Given the description of an element on the screen output the (x, y) to click on. 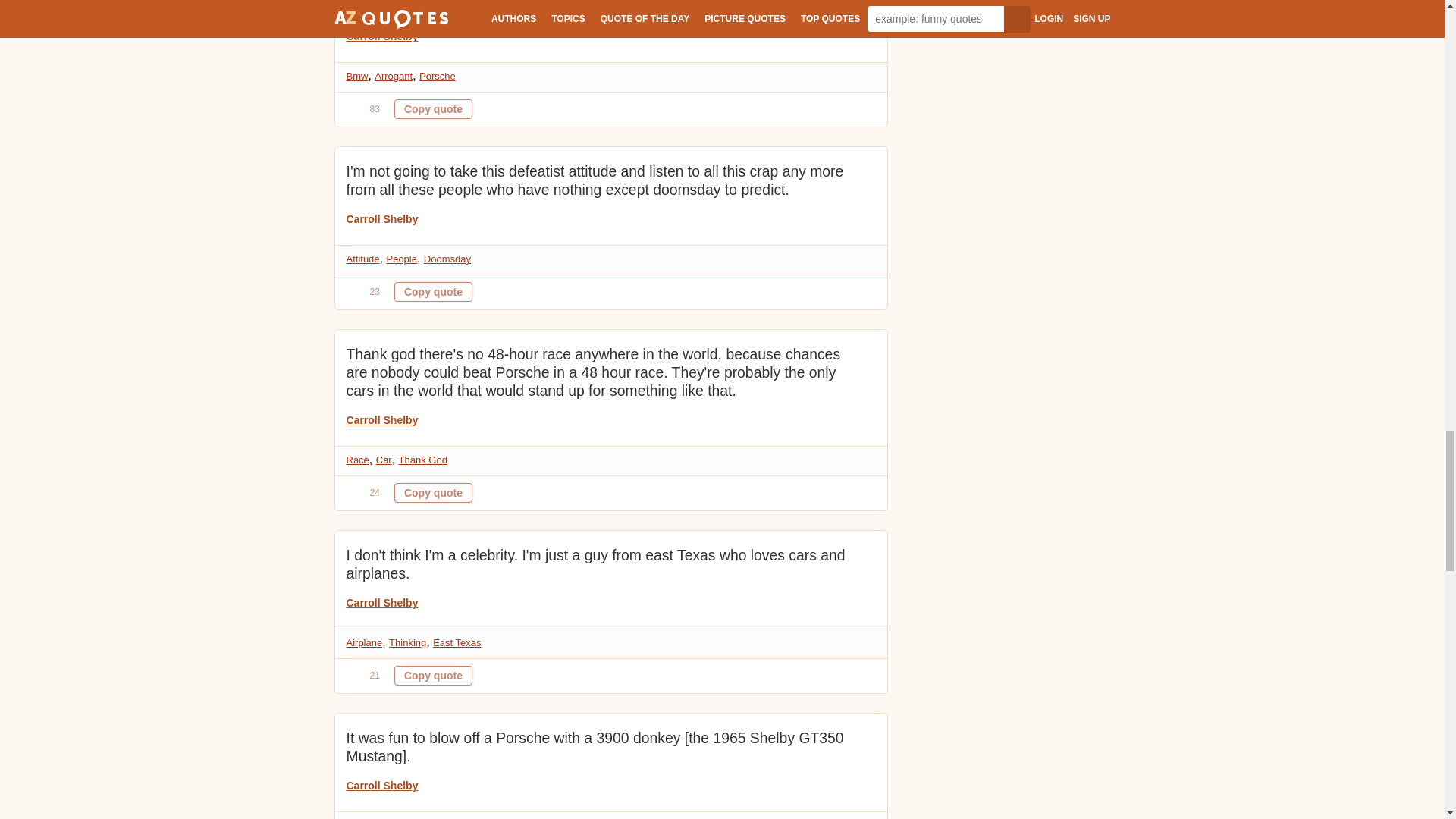
Quote is copied (432, 675)
Quote is copied (432, 291)
Quote is copied (432, 492)
Quote is copied (432, 108)
